Given the description of an element on the screen output the (x, y) to click on. 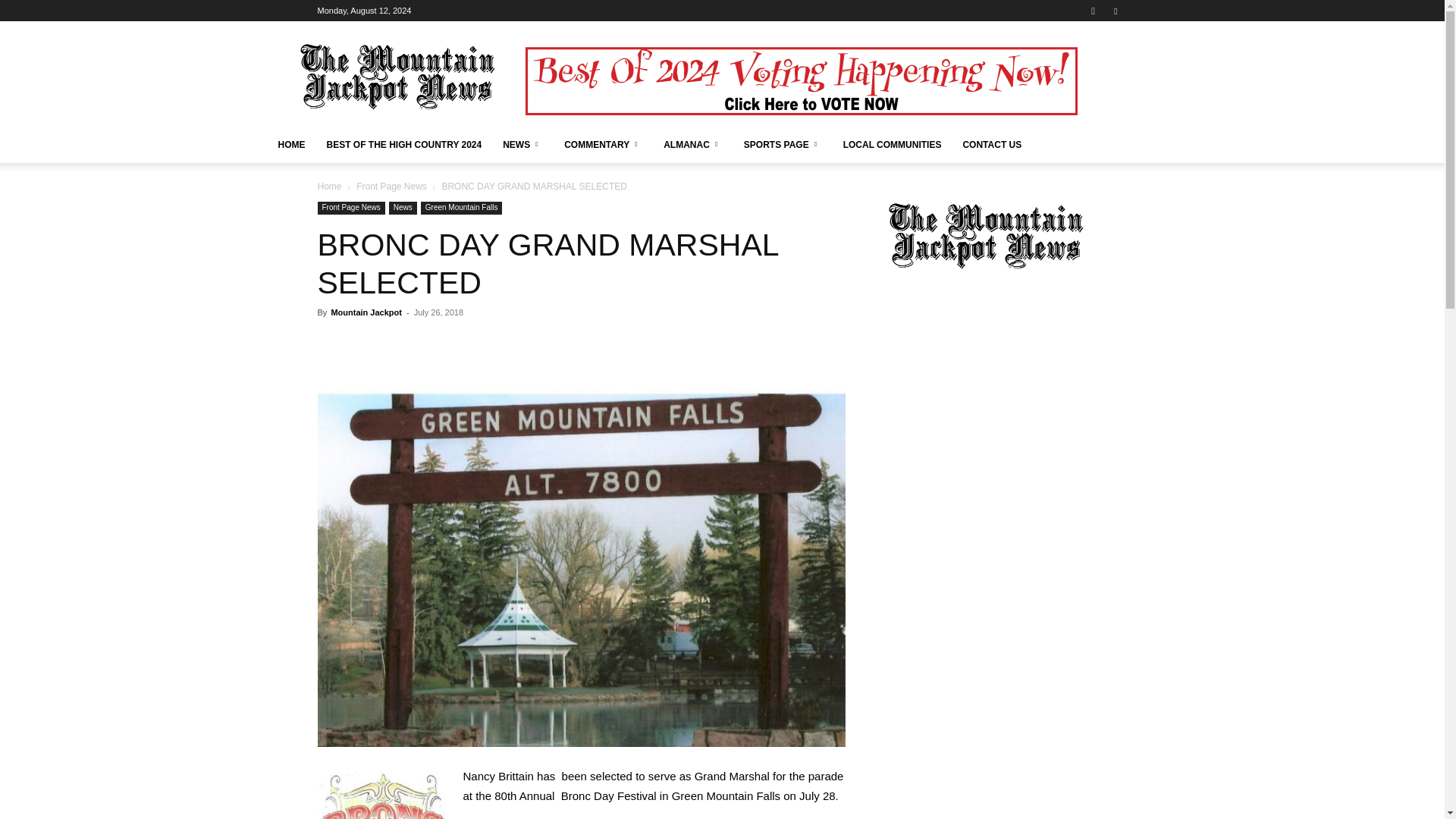
Search (1085, 64)
Facebook (1114, 10)
SPORTS PAGE (782, 144)
NEWS (522, 144)
HOME (290, 144)
COMMENTARY (602, 144)
BEST OF THE HIGH COUNTRY 2024 (403, 144)
ALMANAC (692, 144)
View all posts in Front Page News (391, 185)
